Given the description of an element on the screen output the (x, y) to click on. 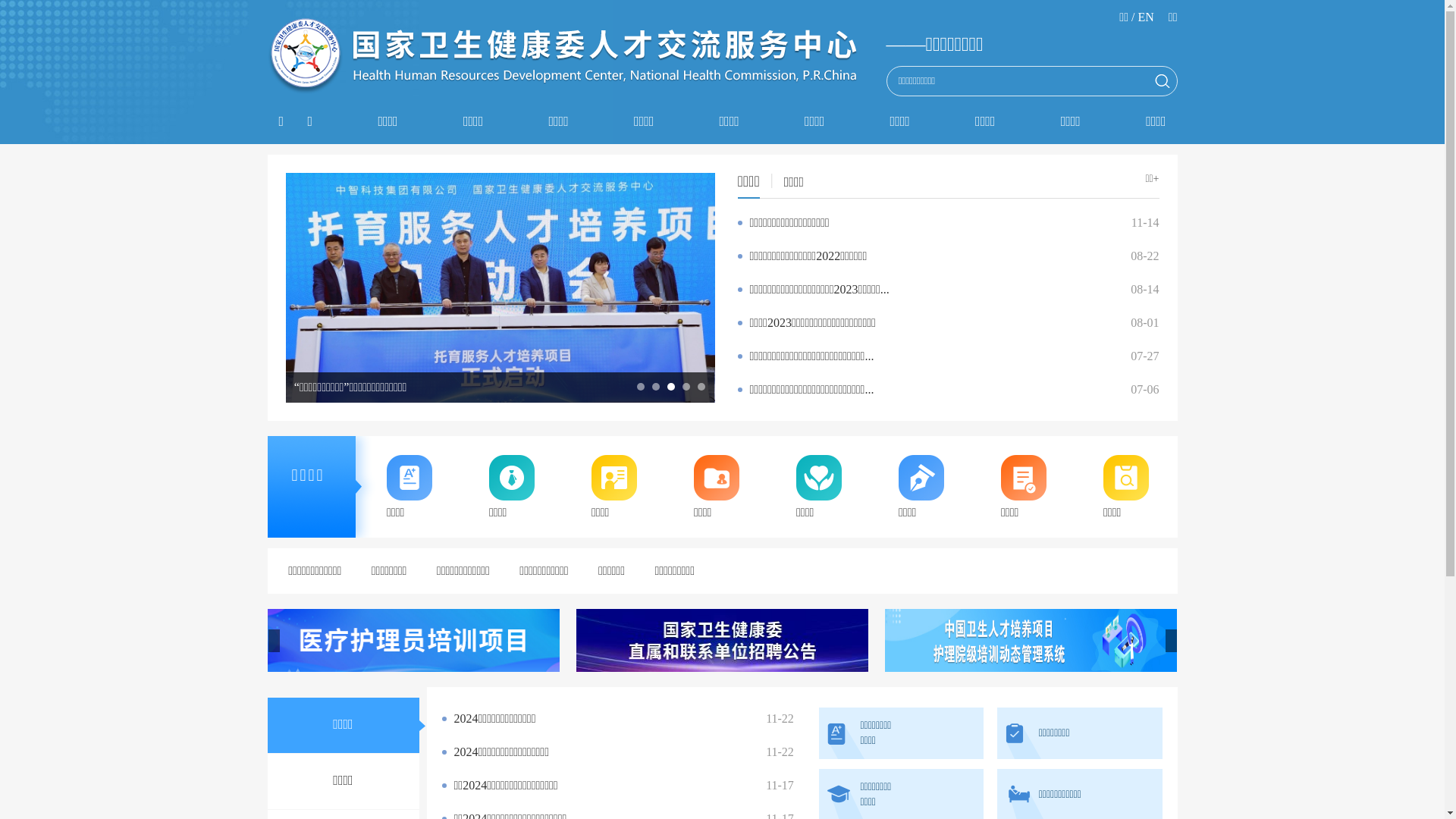
EN Element type: text (1145, 16)
